Given the description of an element on the screen output the (x, y) to click on. 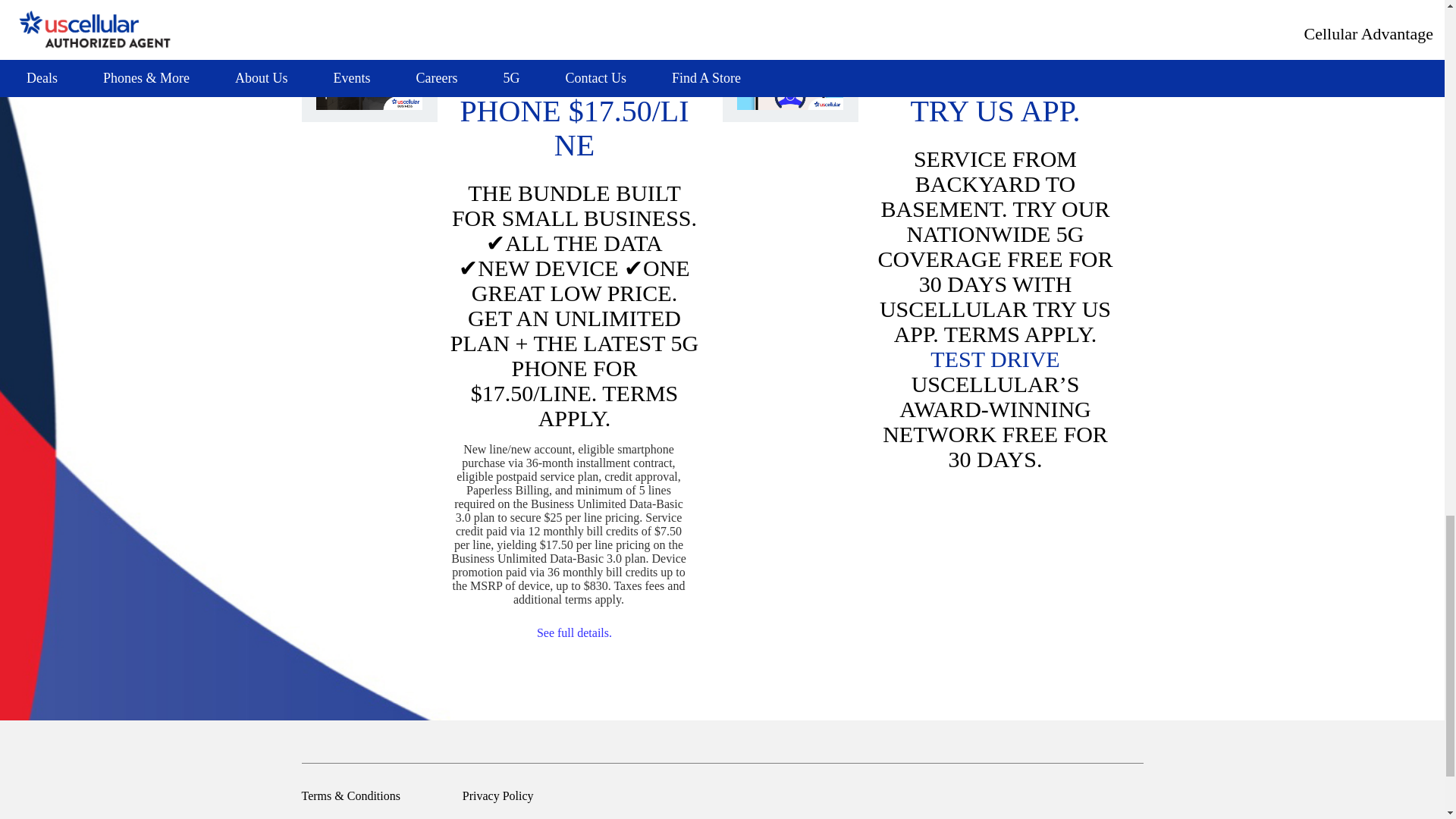
Privacy Policy (498, 795)
TEST DRIVE (994, 358)
See full details. (574, 632)
